Given the description of an element on the screen output the (x, y) to click on. 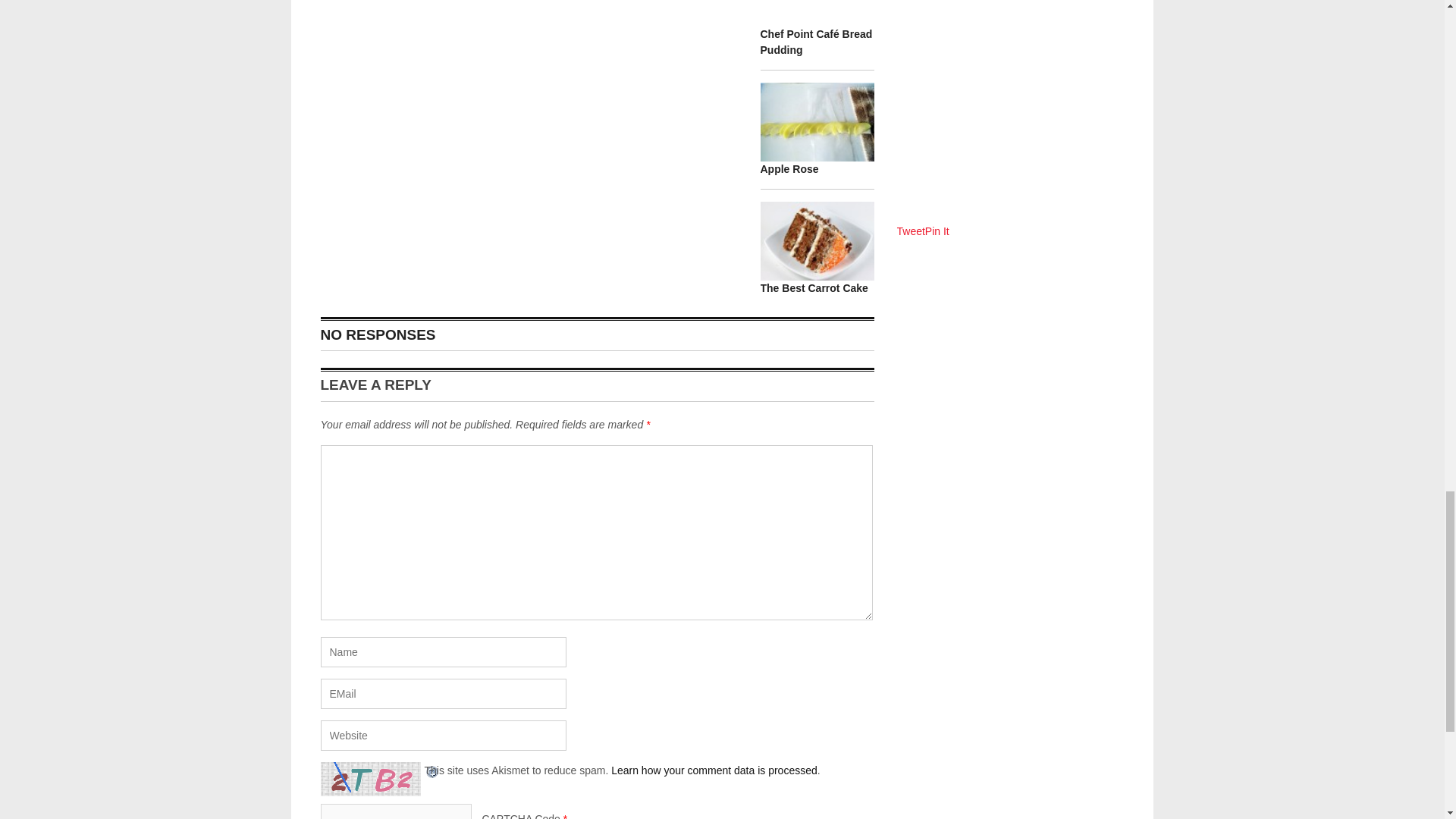
Apple Rose (789, 168)
The Best Carrot Cake (813, 287)
Apple Rose (789, 168)
Refresh (433, 770)
Learn how your comment data is processed (713, 770)
The Best Carrot Cake (813, 287)
CAPTCHA (371, 779)
